Given the description of an element on the screen output the (x, y) to click on. 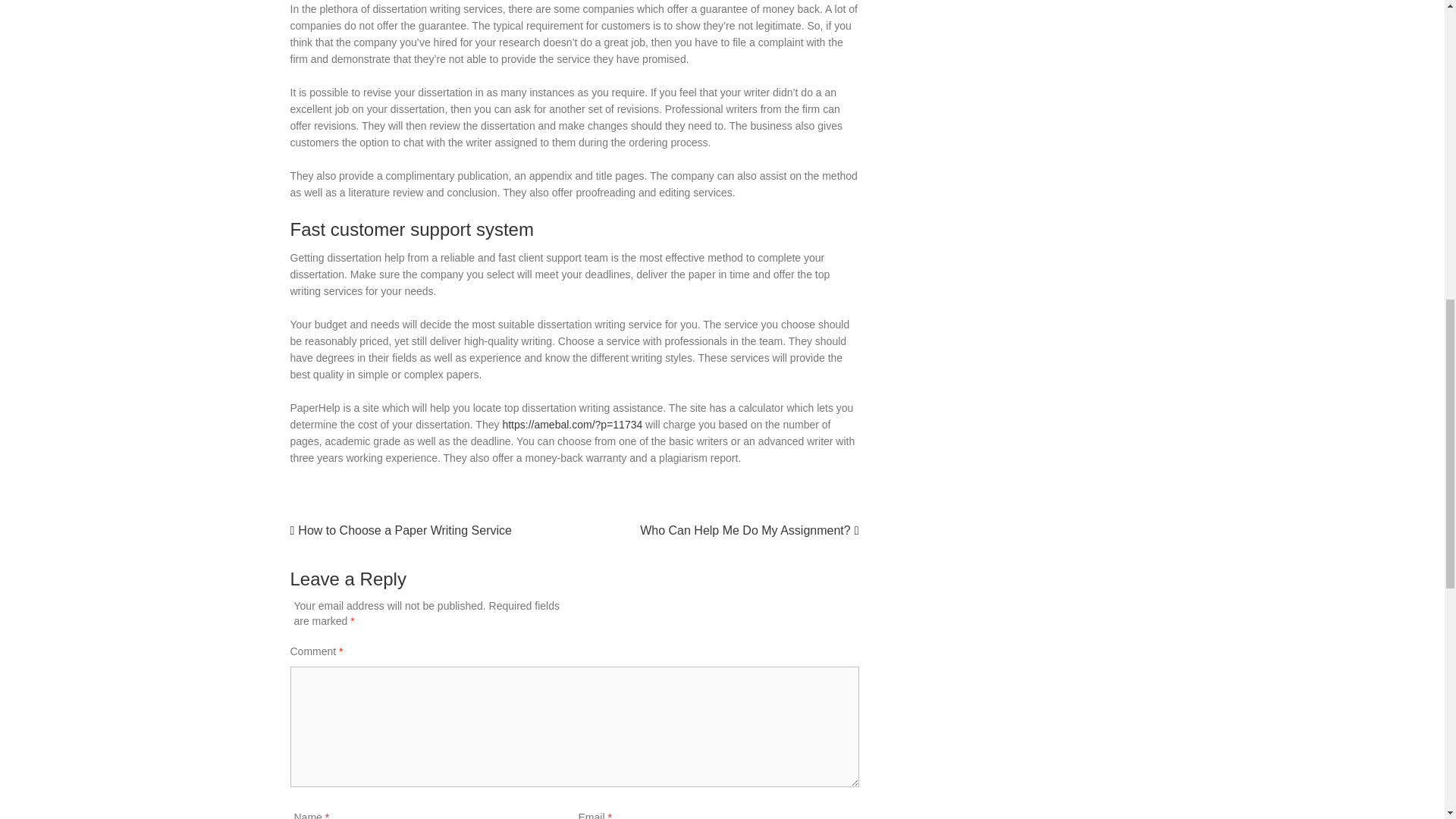
How to Choose a Paper Writing Service (404, 530)
Who Can Help Me Do My Assignment? (744, 530)
